Given the description of an element on the screen output the (x, y) to click on. 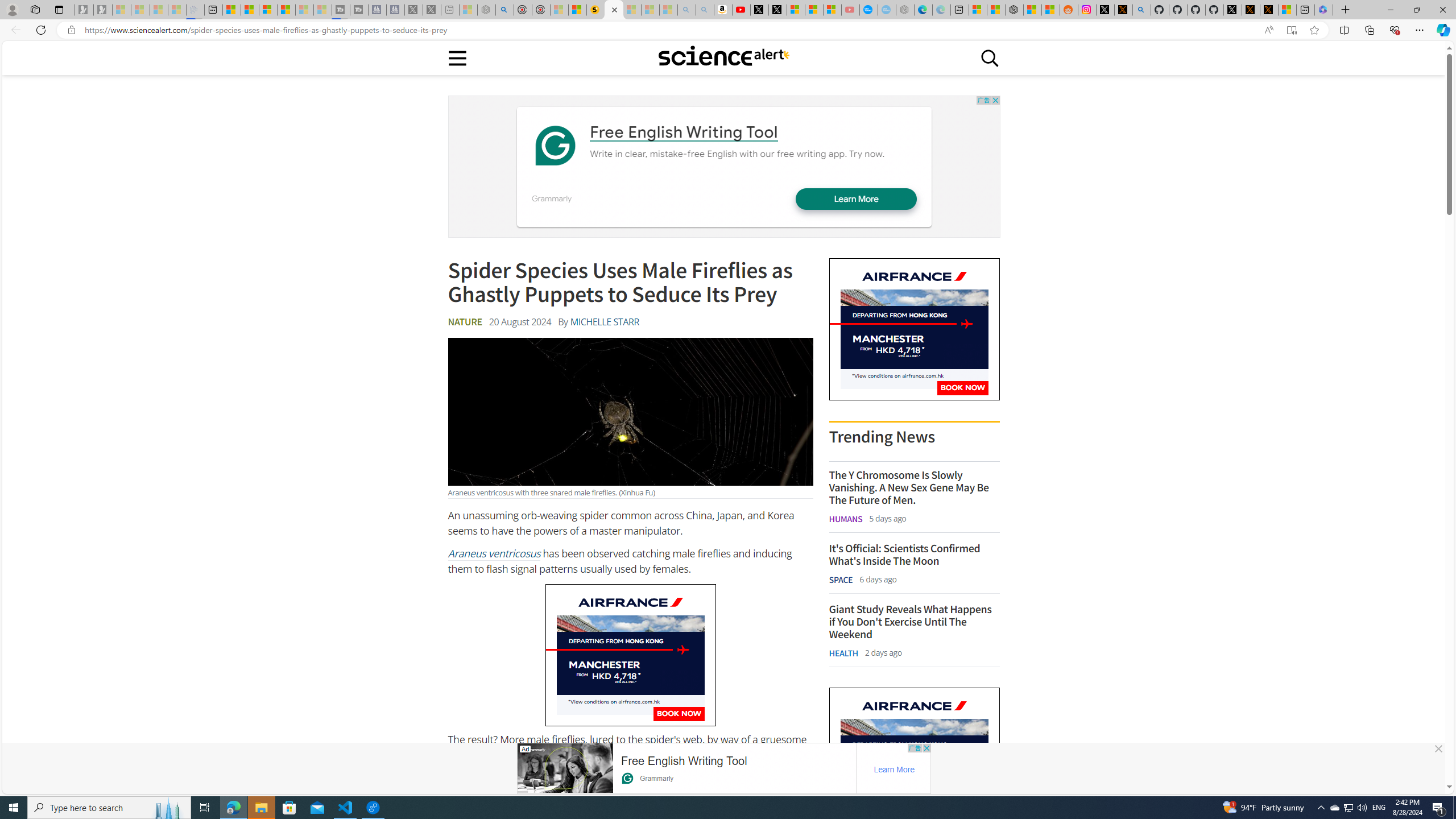
X Privacy Policy (1268, 9)
Opinion: Op-Ed and Commentary - USA TODAY (868, 9)
Newsletter Sign Up - Sleeping (102, 9)
HUMANS (845, 518)
Nordace - Summer Adventures 2024 - Sleeping (486, 9)
Main menu (456, 57)
Class: sciencealert-menu-desktop-svg  (456, 57)
Wildlife - MSN - Sleeping (467, 9)
Overview (268, 9)
